Given the description of an element on the screen output the (x, y) to click on. 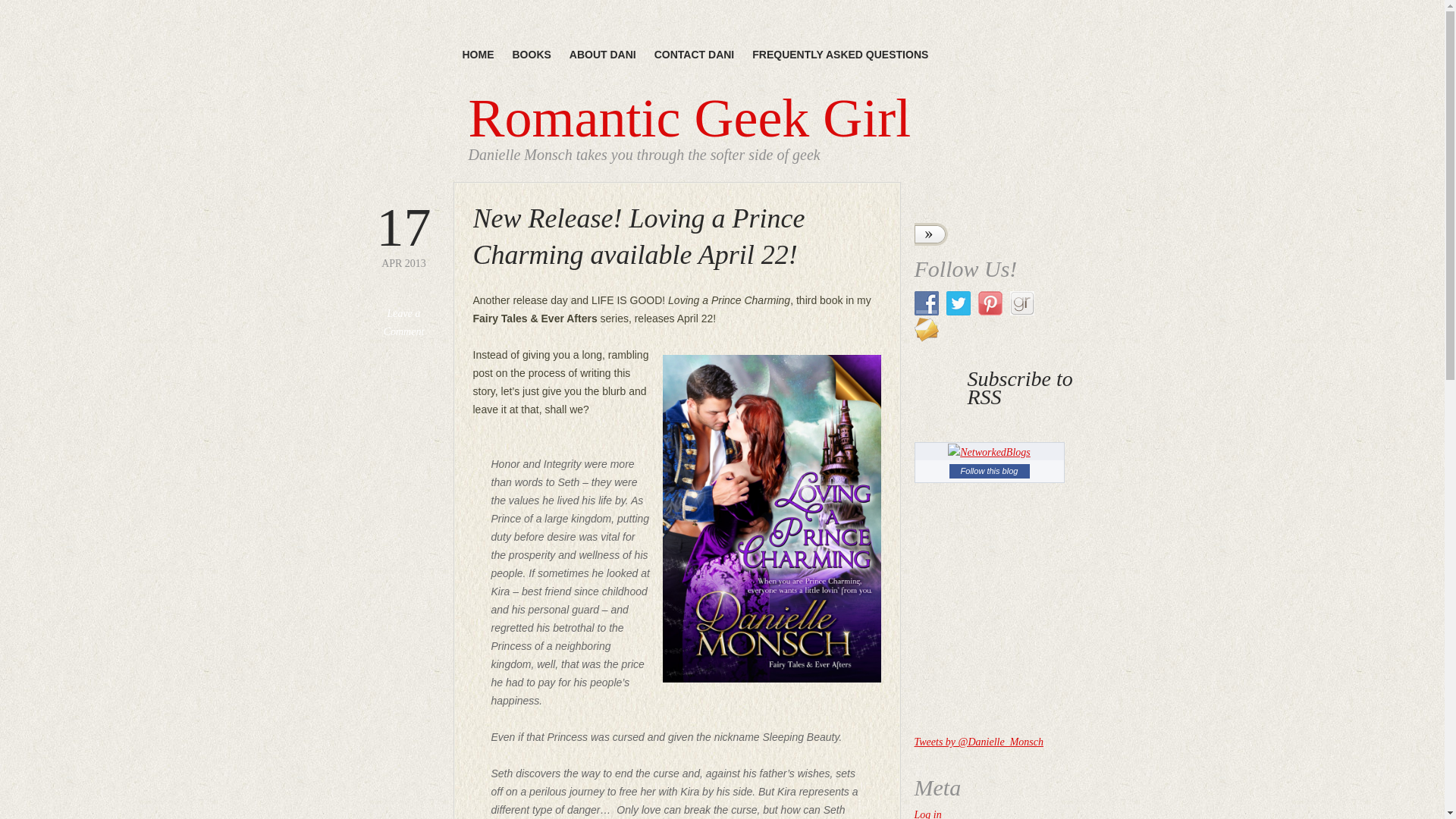
ABOUT DANI (602, 54)
Subscribe to RSS (996, 388)
Follow Us on Pinterest (990, 303)
Follow this blog (989, 471)
NetworkedBlogs (988, 452)
Log in (928, 814)
Follow Us on Good Reads (1021, 303)
CONTACT DANI (694, 54)
Follow Us on E-mail (926, 329)
Search (930, 233)
NetworkedBlogs (988, 451)
Romantic Geek Girl (689, 117)
Follow Us on Facebook (926, 303)
FREQUENTLY ASKED QUESTIONS (839, 54)
